Given the description of an element on the screen output the (x, y) to click on. 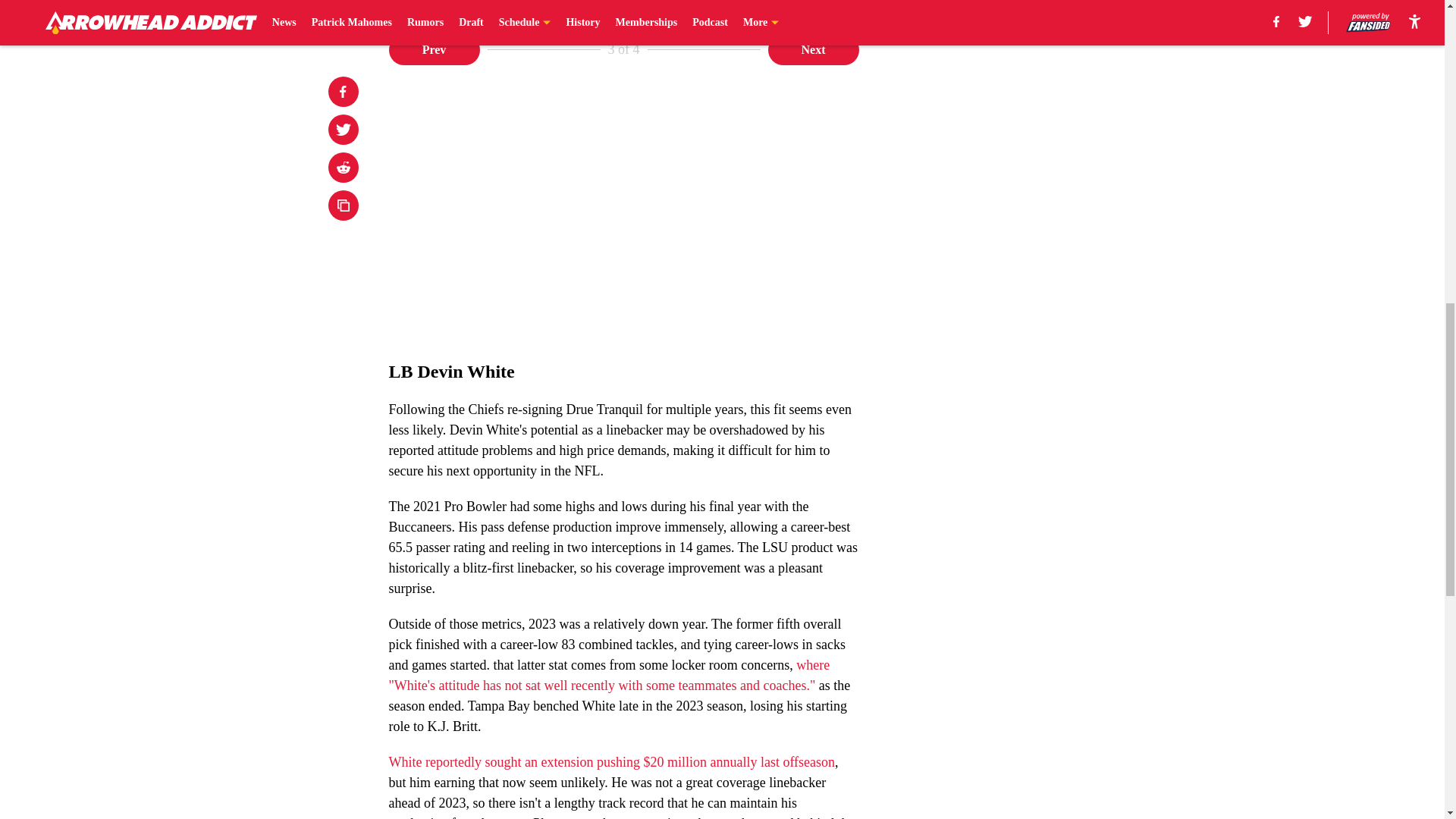
Prev (433, 50)
Next (813, 50)
